Given the description of an element on the screen output the (x, y) to click on. 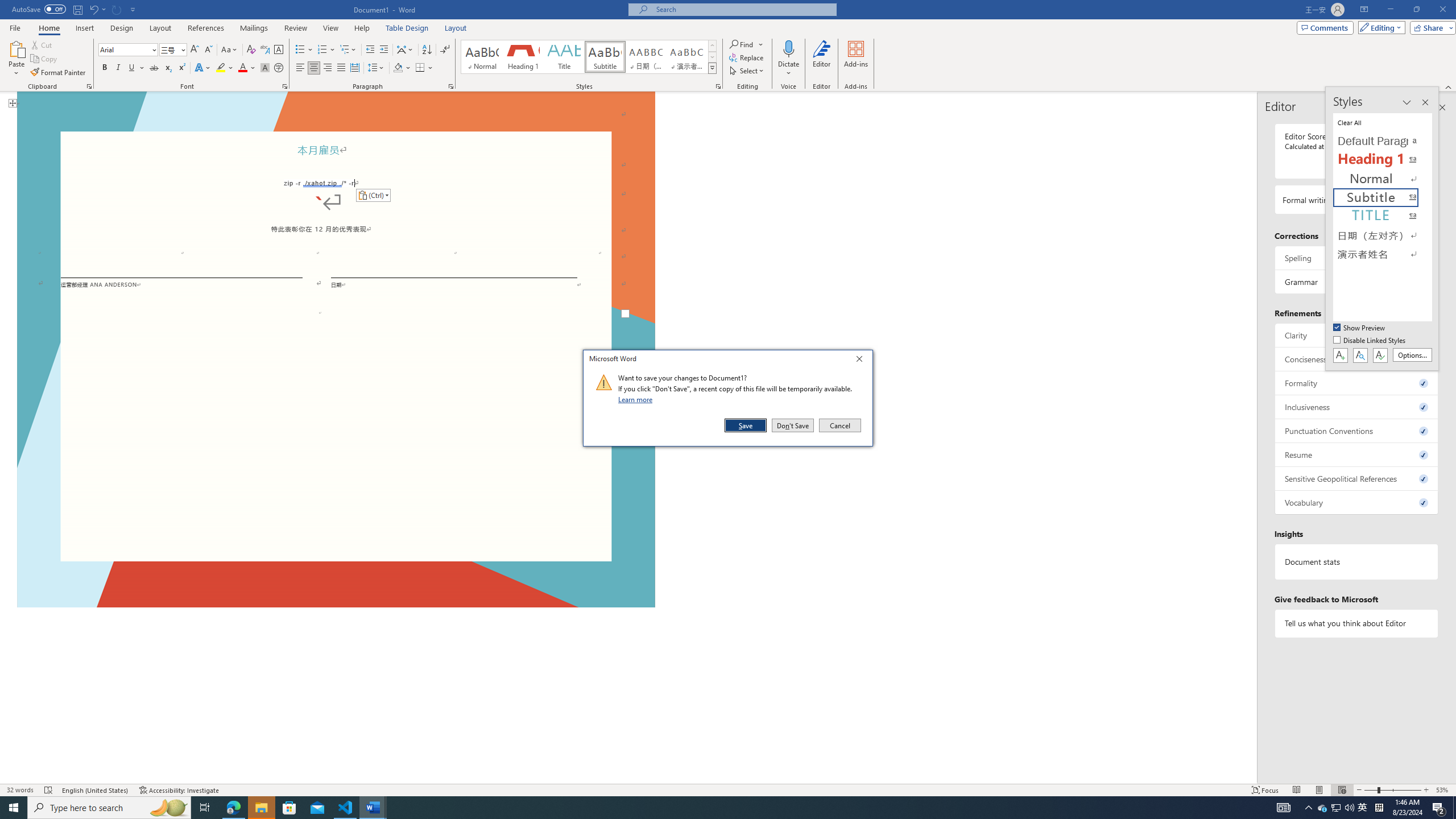
Font Color Red (241, 67)
Running applications (700, 807)
Learn more (636, 399)
